Given the description of an element on the screen output the (x, y) to click on. 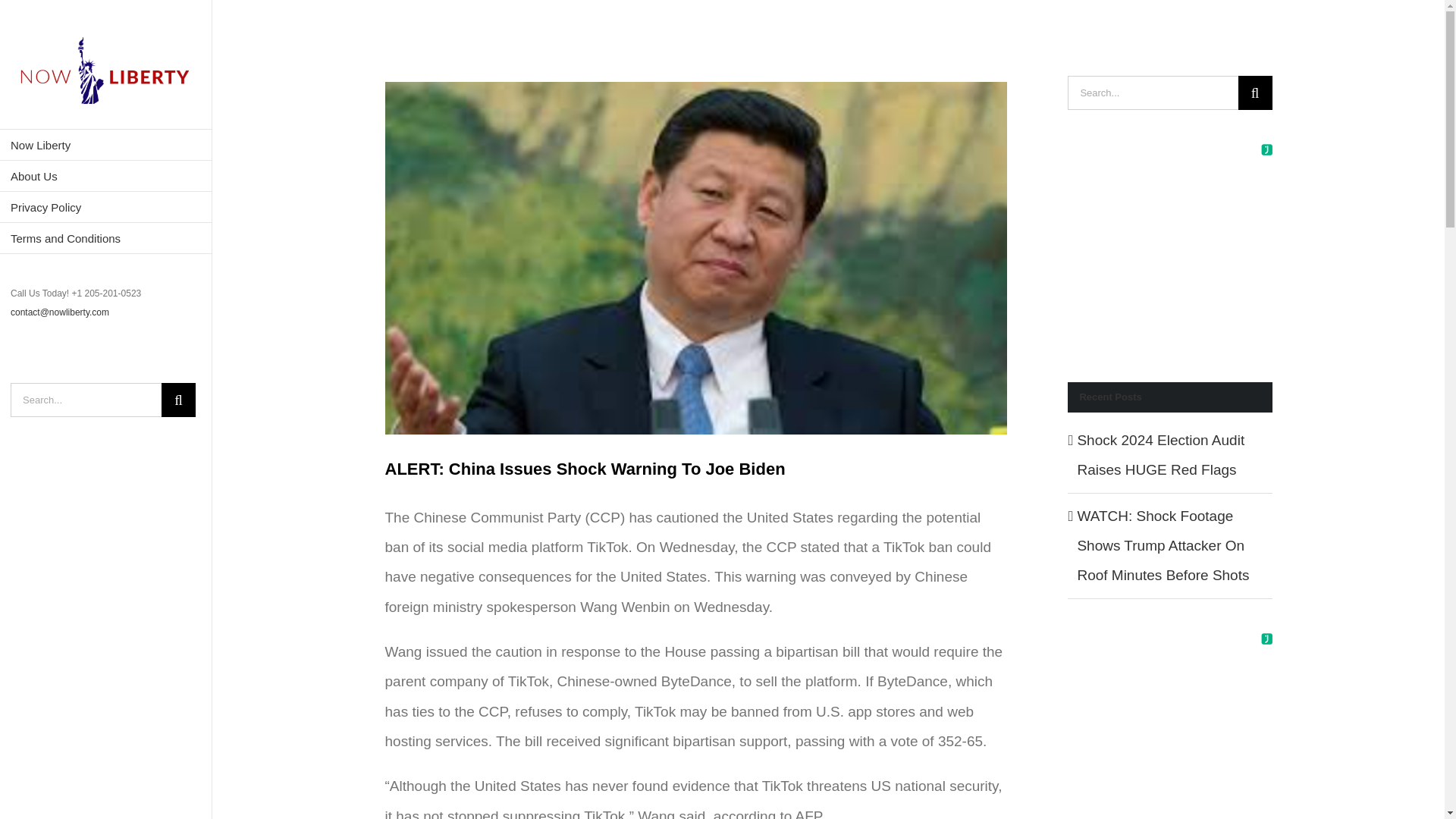
About Us (106, 175)
Shock 2024 Election Audit Raises HUGE Red Flags (1160, 454)
Now Liberty (106, 144)
Privacy Policy (106, 206)
Terms and Conditions (106, 237)
